Given the description of an element on the screen output the (x, y) to click on. 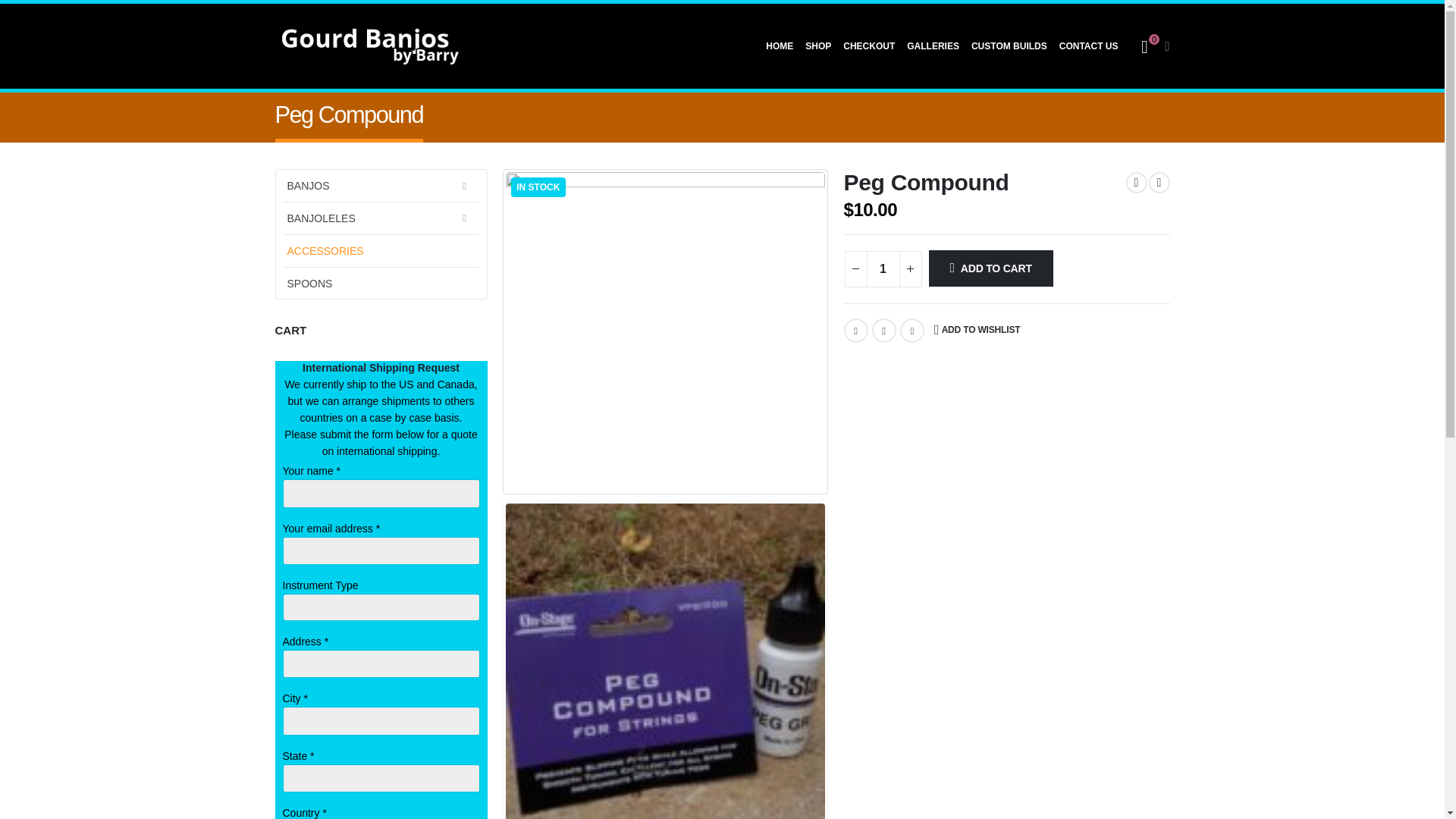
DSCN0784 (664, 330)
CHECKOUT (874, 47)
LinkedIn (884, 330)
1 (882, 268)
Qty (882, 268)
Facebook (855, 330)
CUSTOM BUILDS (1014, 47)
Email (911, 330)
Facebook (748, 532)
CONTACT US (1094, 47)
